Given the description of an element on the screen output the (x, y) to click on. 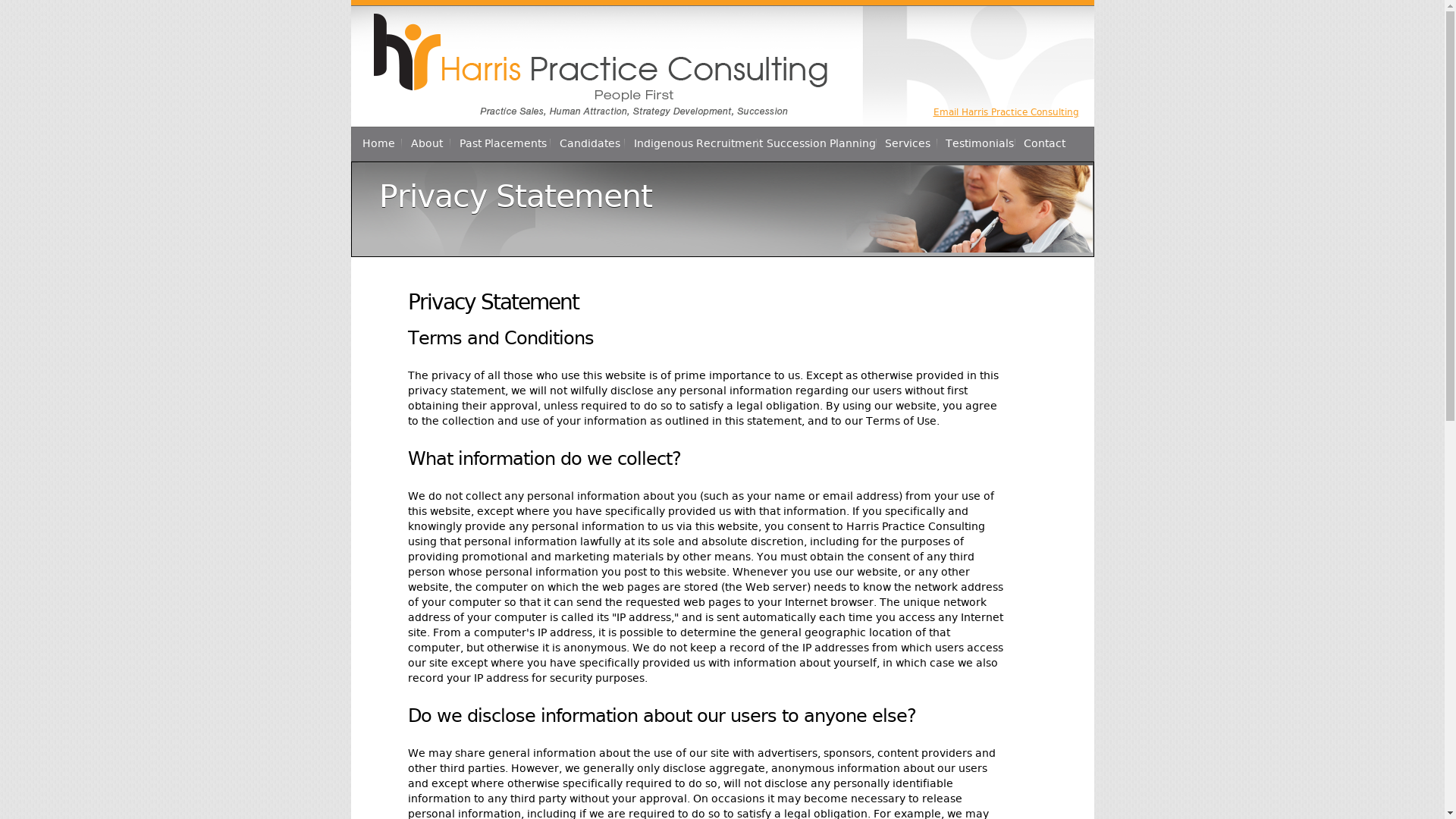
Email Harris Practice Consulting Element type: text (1005, 111)
Testimonials Element type: text (979, 143)
About Element type: text (426, 143)
Past Placements Element type: text (502, 143)
Contact Element type: text (1043, 143)
Succession Planning Element type: text (819, 143)
Services Element type: text (907, 143)
Candidates Element type: text (589, 143)
Indigenous Recruitment Element type: text (697, 143)
Home Element type: text (377, 143)
